Given the description of an element on the screen output the (x, y) to click on. 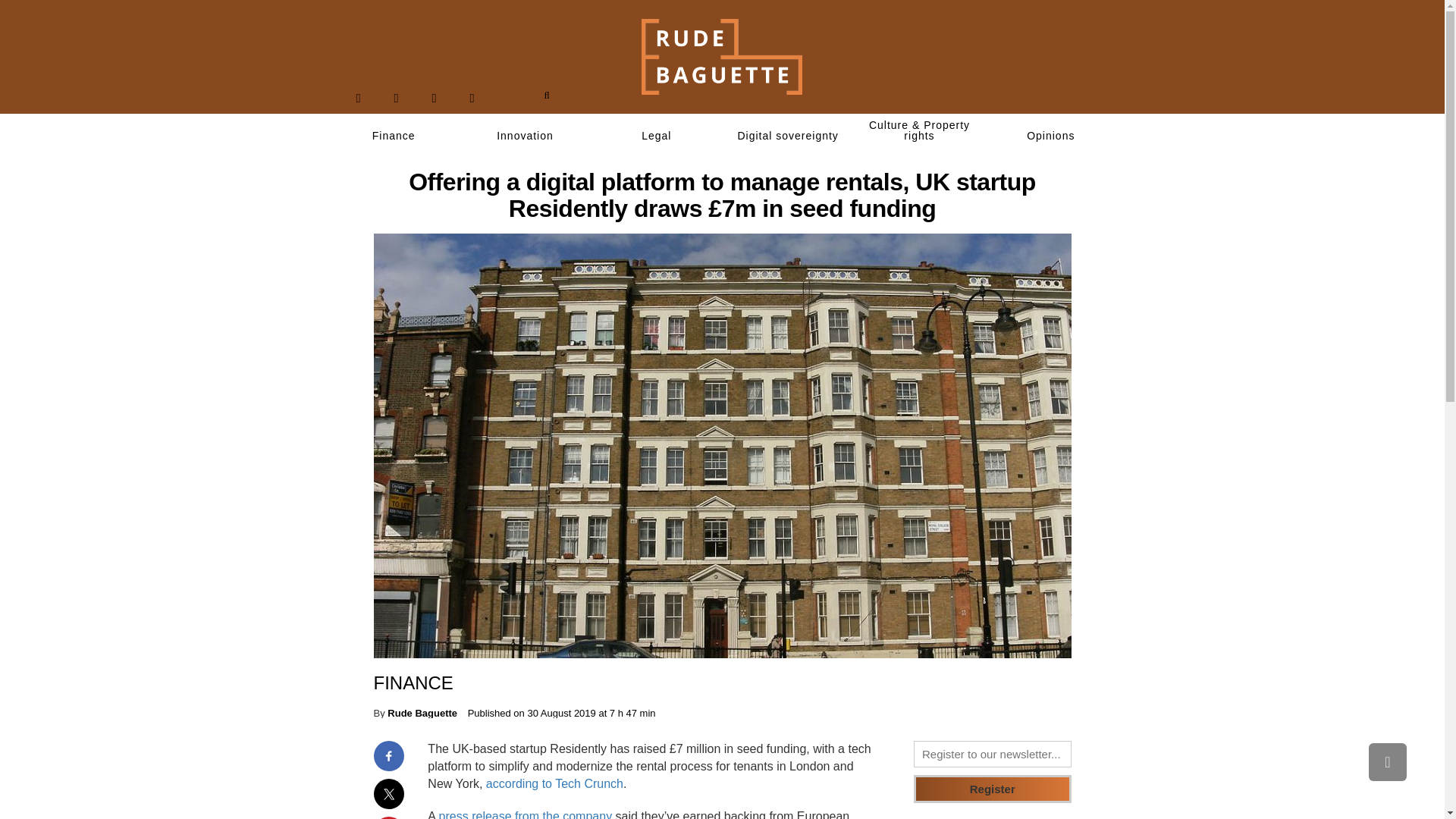
Rude Baguette (422, 713)
Facebook (358, 97)
30 August 2019 at 7 h 47 min (591, 713)
Scroll to top (1387, 761)
Scroll to top (1387, 761)
Digital sovereignty (787, 135)
RSS (472, 97)
Innovation (524, 135)
Posts by Rude Baguette (422, 713)
Opinions (1051, 135)
Register (992, 788)
Twitter (396, 97)
press release from the company (525, 814)
Finance (393, 135)
Legal (656, 135)
